Given the description of an element on the screen output the (x, y) to click on. 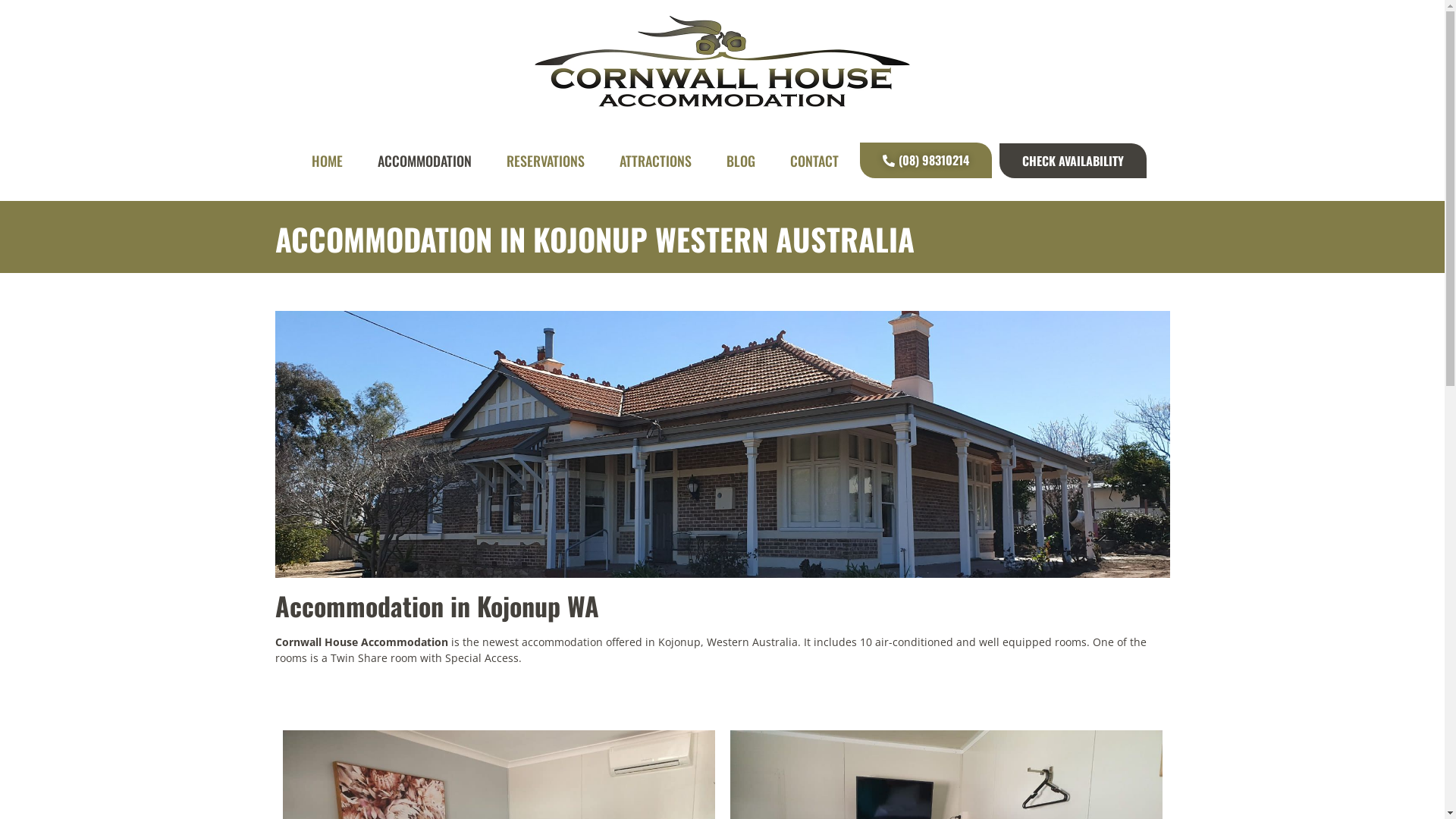
ATTRACTIONS Element type: text (655, 159)
ACCOMMODATION Element type: text (424, 159)
BLOG Element type: text (740, 159)
HOME Element type: text (327, 159)
(08) 98310214 Element type: text (925, 160)
CHECK AVAILABILITY Element type: text (1072, 159)
RESERVATIONS Element type: text (545, 159)
CONTACT Element type: text (814, 159)
Accommodation - Accommodation,House Accommodation Element type: hover (721, 443)
